Given the description of an element on the screen output the (x, y) to click on. 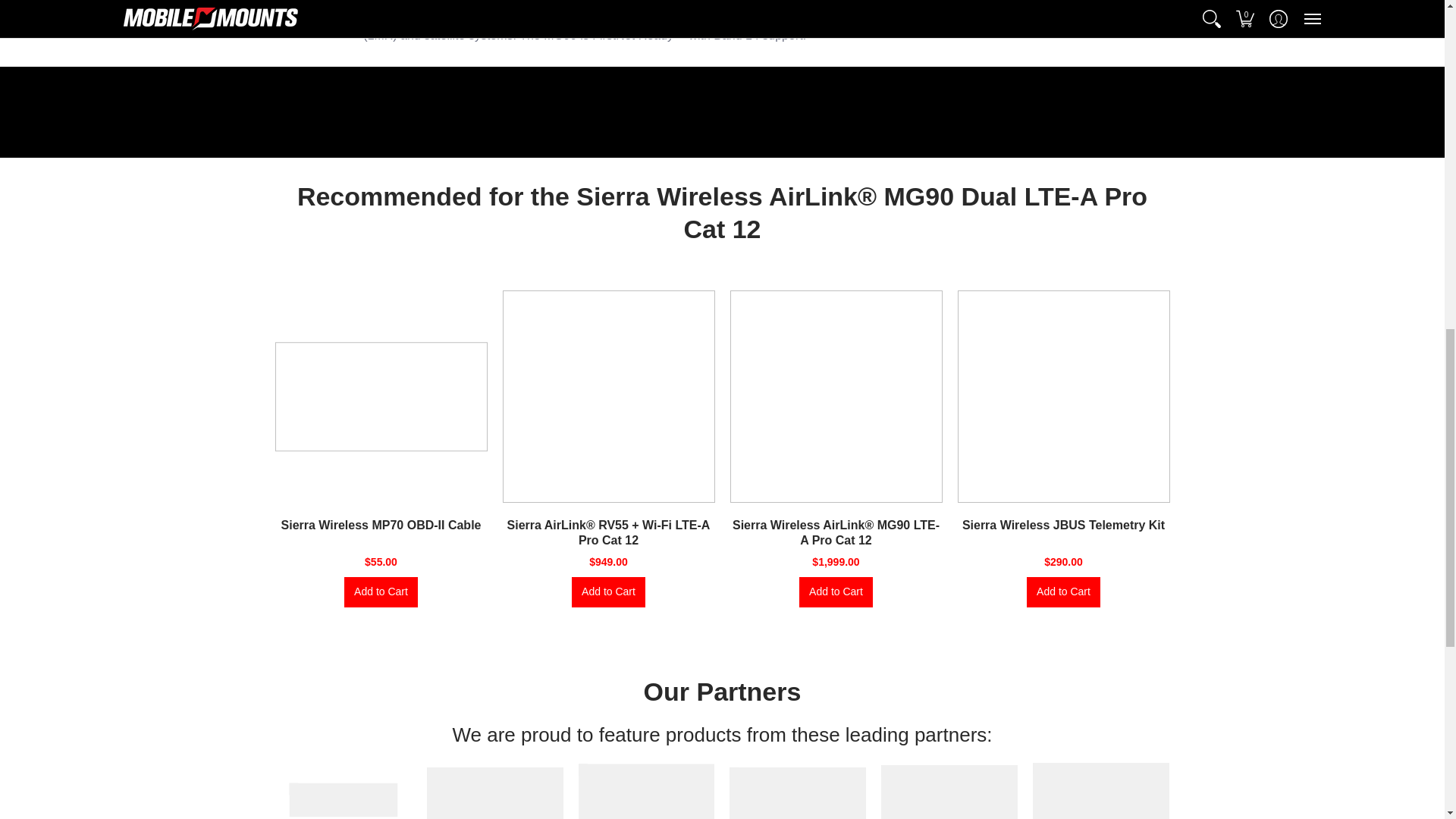
Add to Cart (835, 591)
Add to Cart (1063, 591)
Add to Cart (380, 591)
Sierra Wireless MP70 OBD-II Cable (381, 524)
Add to Cart (380, 591)
Add to Cart (608, 591)
